Given the description of an element on the screen output the (x, y) to click on. 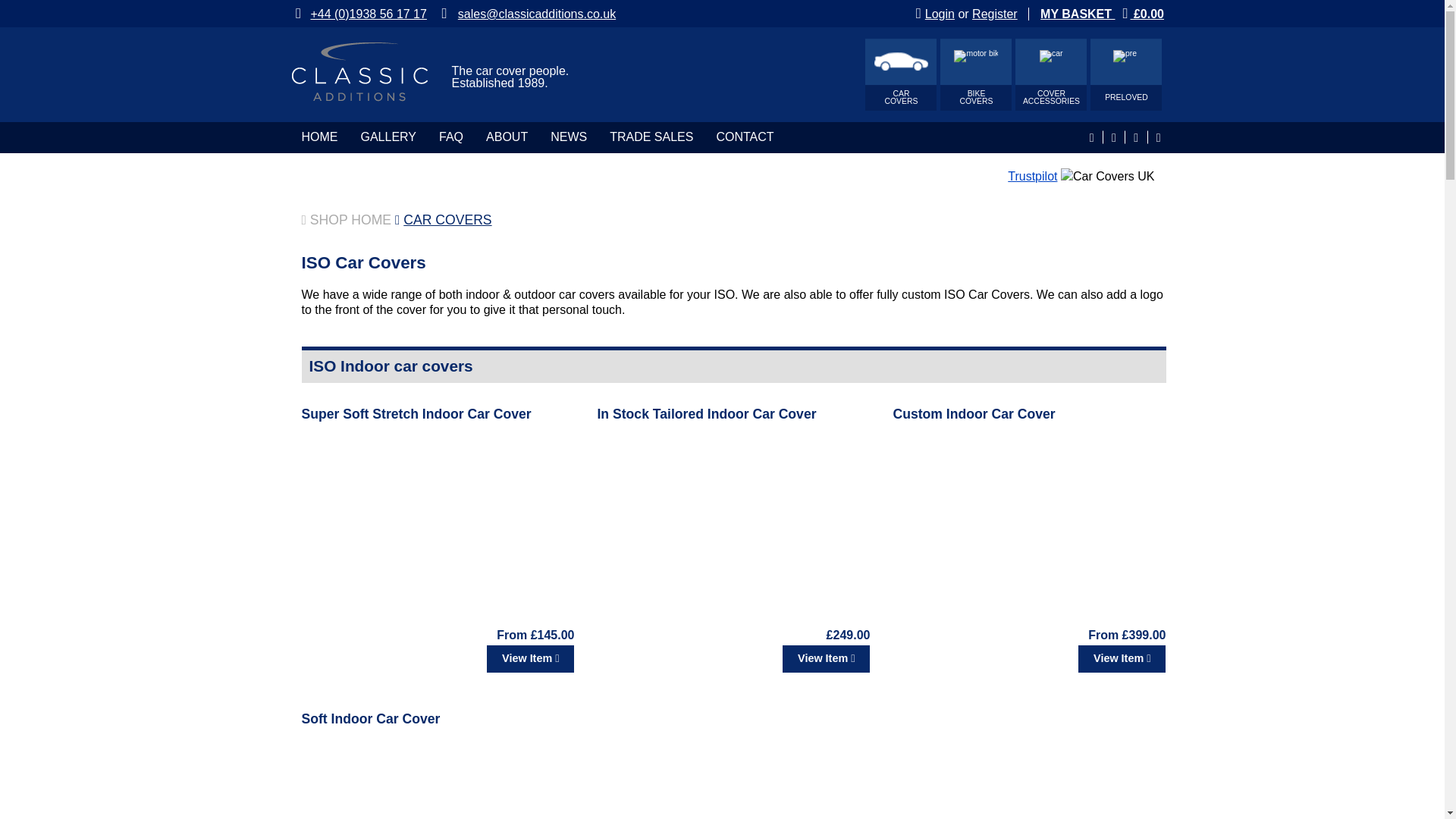
View Item (438, 658)
View Item (732, 658)
ABOUT (506, 137)
GALLERY (388, 137)
Trustpilot (1032, 175)
Register (994, 13)
View Item (529, 658)
In Stock Tailored Indoor Car Cover (705, 413)
Super Soft Stretch Indoor Car Cover (900, 74)
HOME (975, 74)
FAQ (416, 413)
CONTACT (1050, 74)
